Given the description of an element on the screen output the (x, y) to click on. 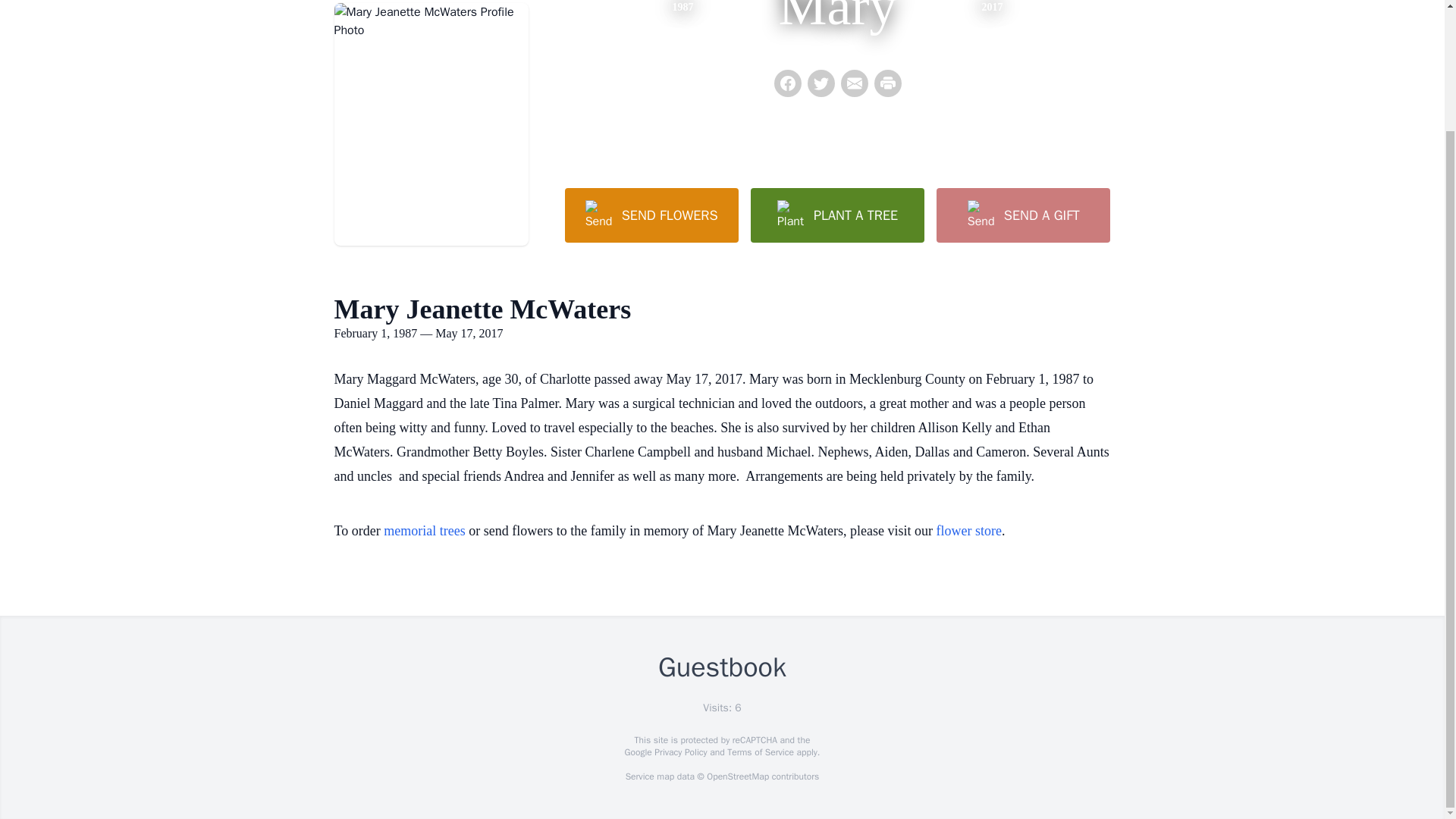
flower store (968, 530)
Terms of Service (759, 752)
PLANT A TREE (837, 215)
memorial trees (424, 530)
SEND FLOWERS (651, 215)
Privacy Policy (679, 752)
SEND A GIFT (1022, 215)
OpenStreetMap (737, 776)
